Given the description of an element on the screen output the (x, y) to click on. 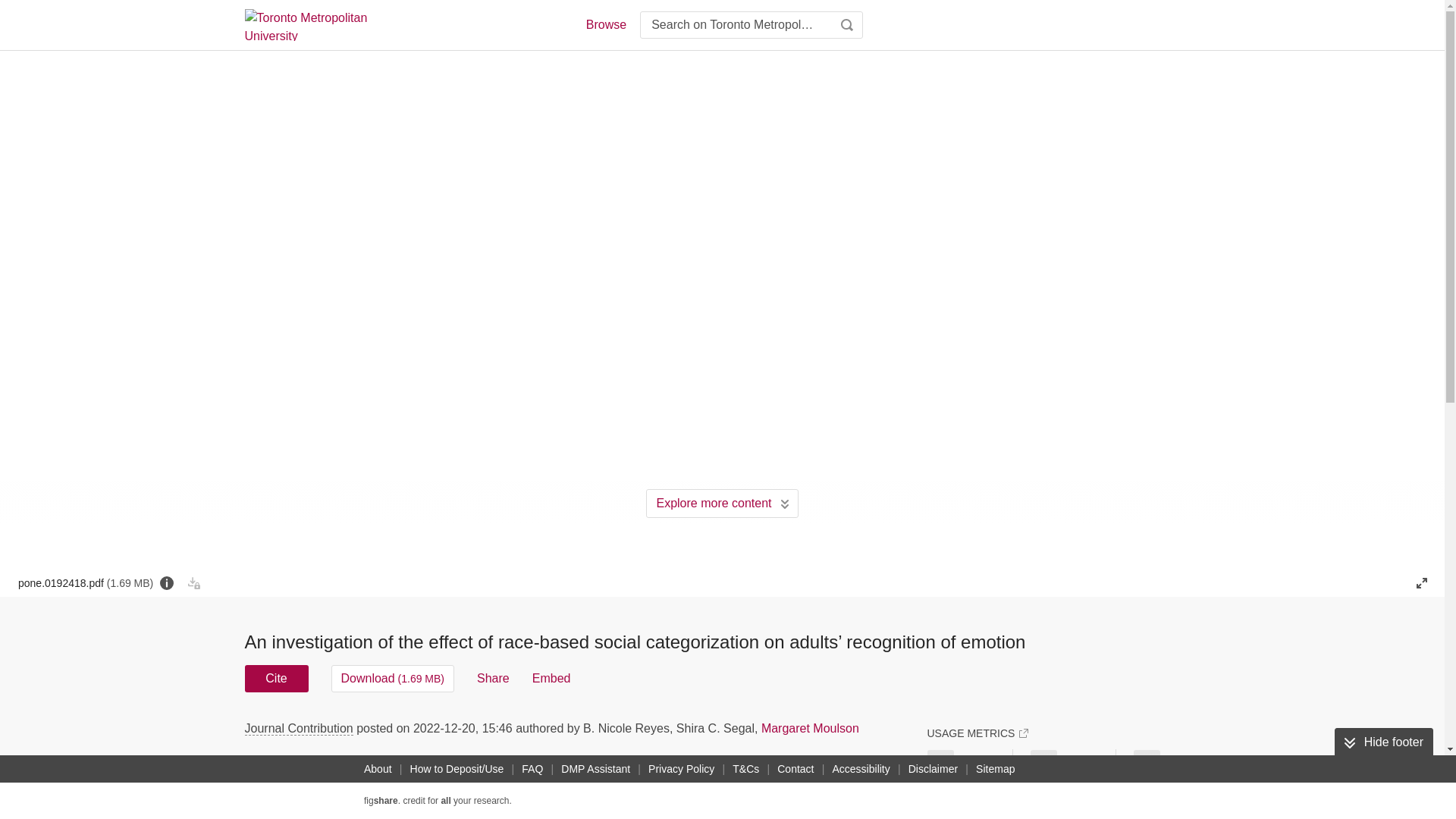
Explore more content (721, 502)
Accessibility (861, 769)
FAQ (531, 769)
Margaret Moulson (810, 727)
Hide footer (1383, 742)
Privacy Policy (681, 769)
About (377, 769)
USAGE METRICS (976, 732)
Cite (275, 678)
Browse (605, 24)
Embed (551, 678)
Share (493, 678)
Contact (795, 769)
pone.0192418.pdf (84, 583)
Sitemap (995, 769)
